Given the description of an element on the screen output the (x, y) to click on. 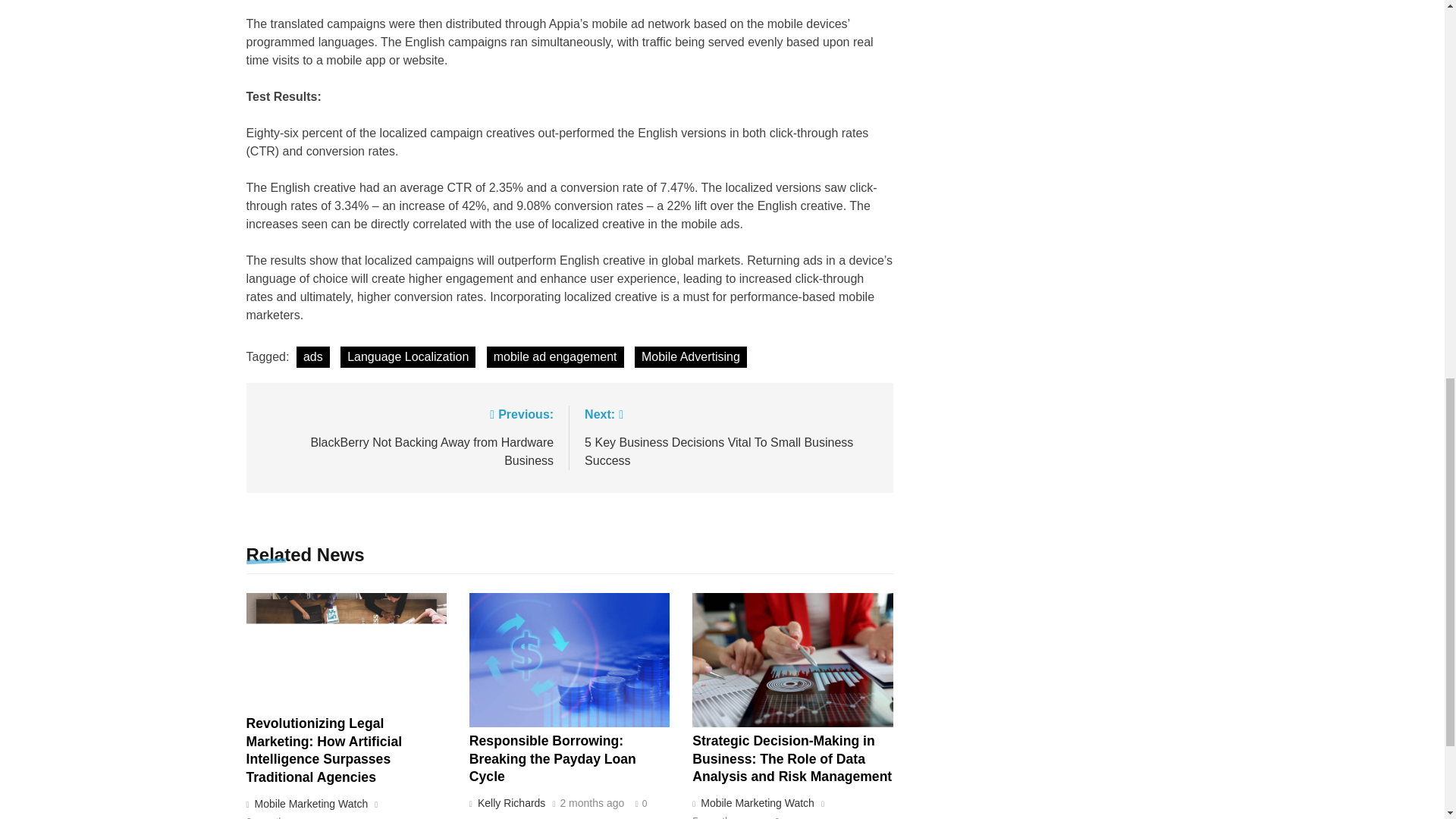
ads (313, 356)
Kelly Richards (509, 802)
Responsible Borrowing: Breaking the Payday Loan Cycle (552, 758)
mobile ad engagement (555, 356)
Mobile Marketing Watch (309, 803)
Mobile Advertising (690, 356)
Mobile Marketing Watch (756, 802)
2 months ago (591, 803)
